Given the description of an element on the screen output the (x, y) to click on. 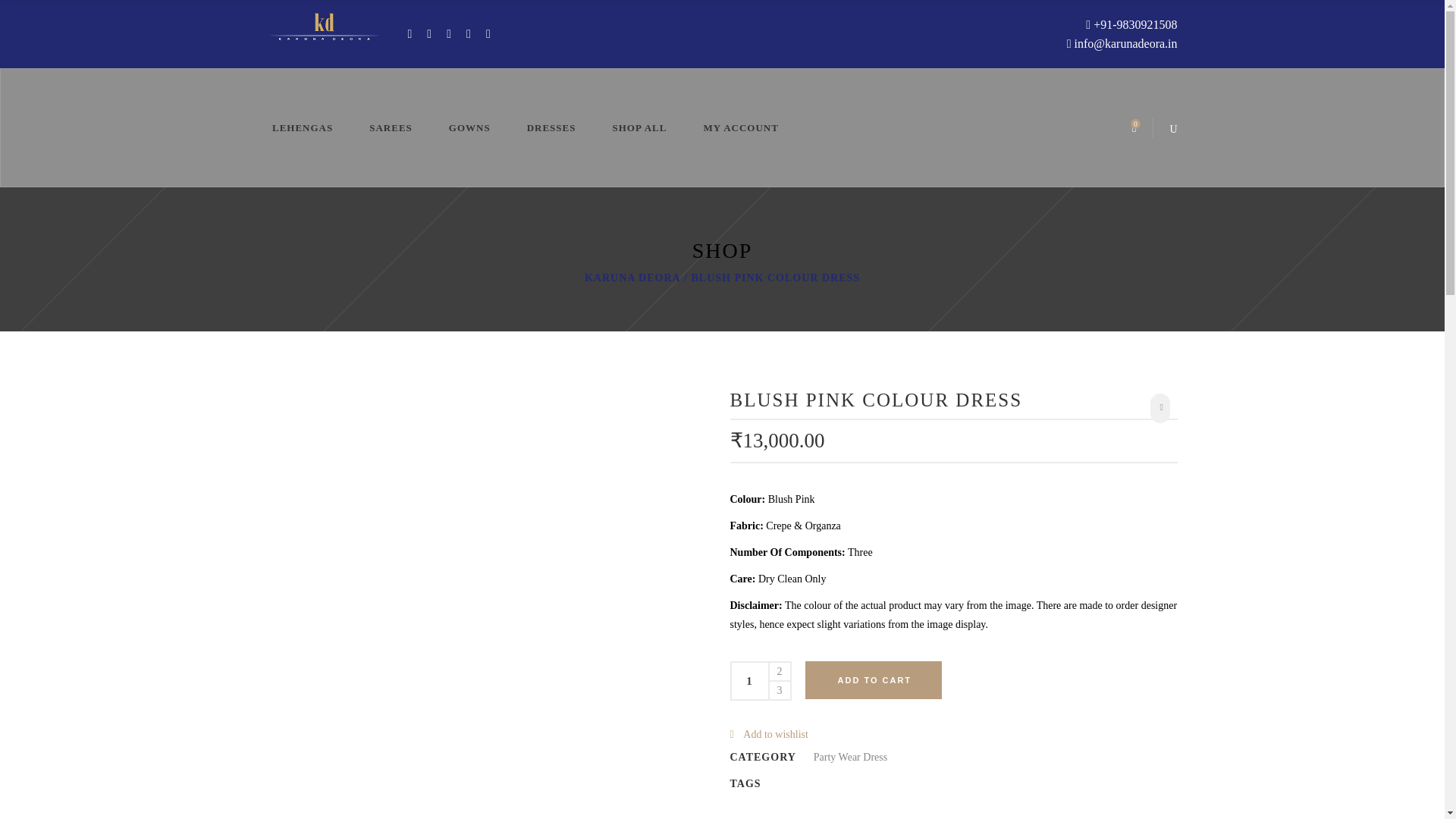
1 (748, 680)
U (988, 419)
Qty (748, 680)
